Given the description of an element on the screen output the (x, y) to click on. 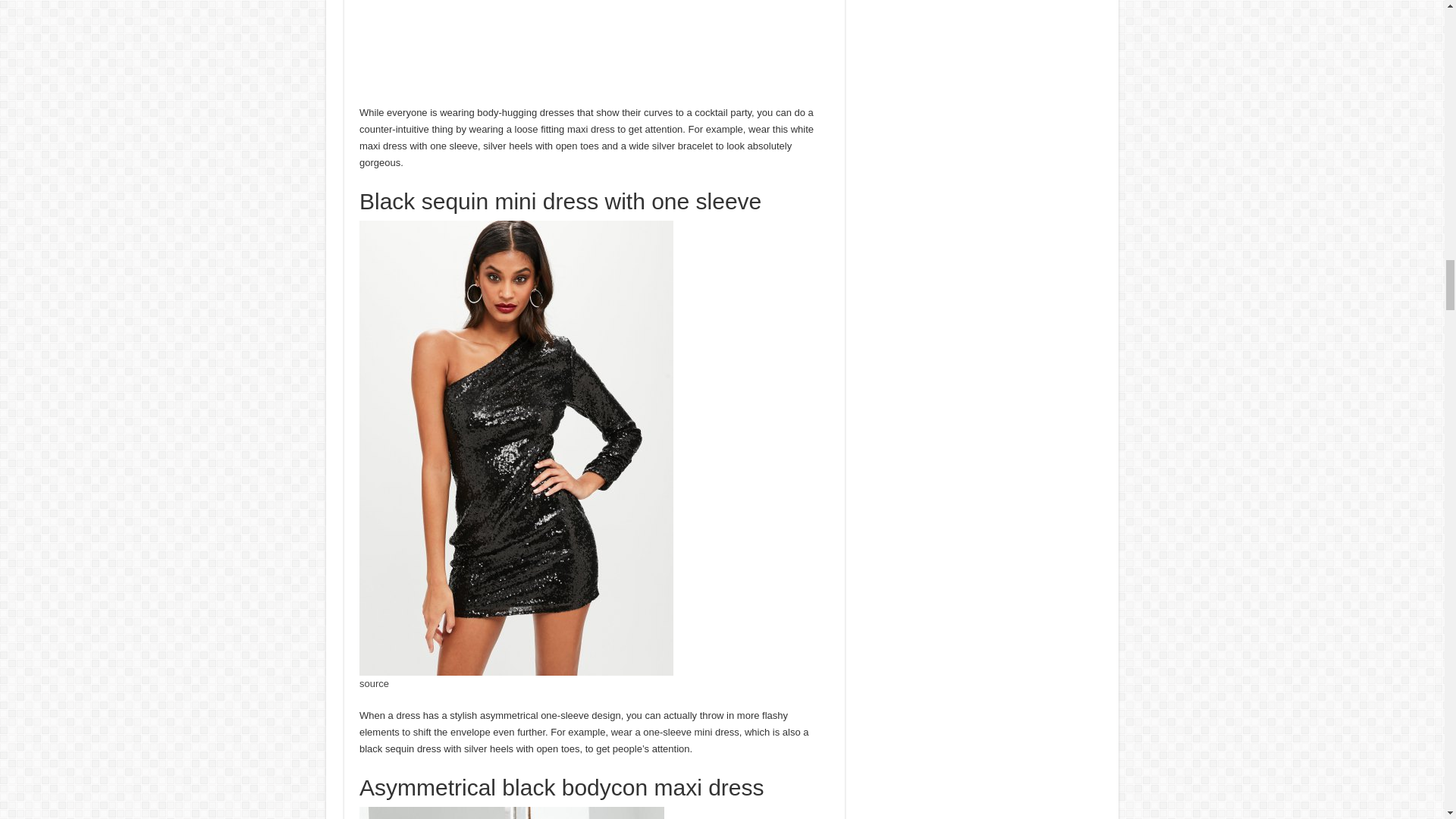
source (373, 683)
